Given the description of an element on the screen output the (x, y) to click on. 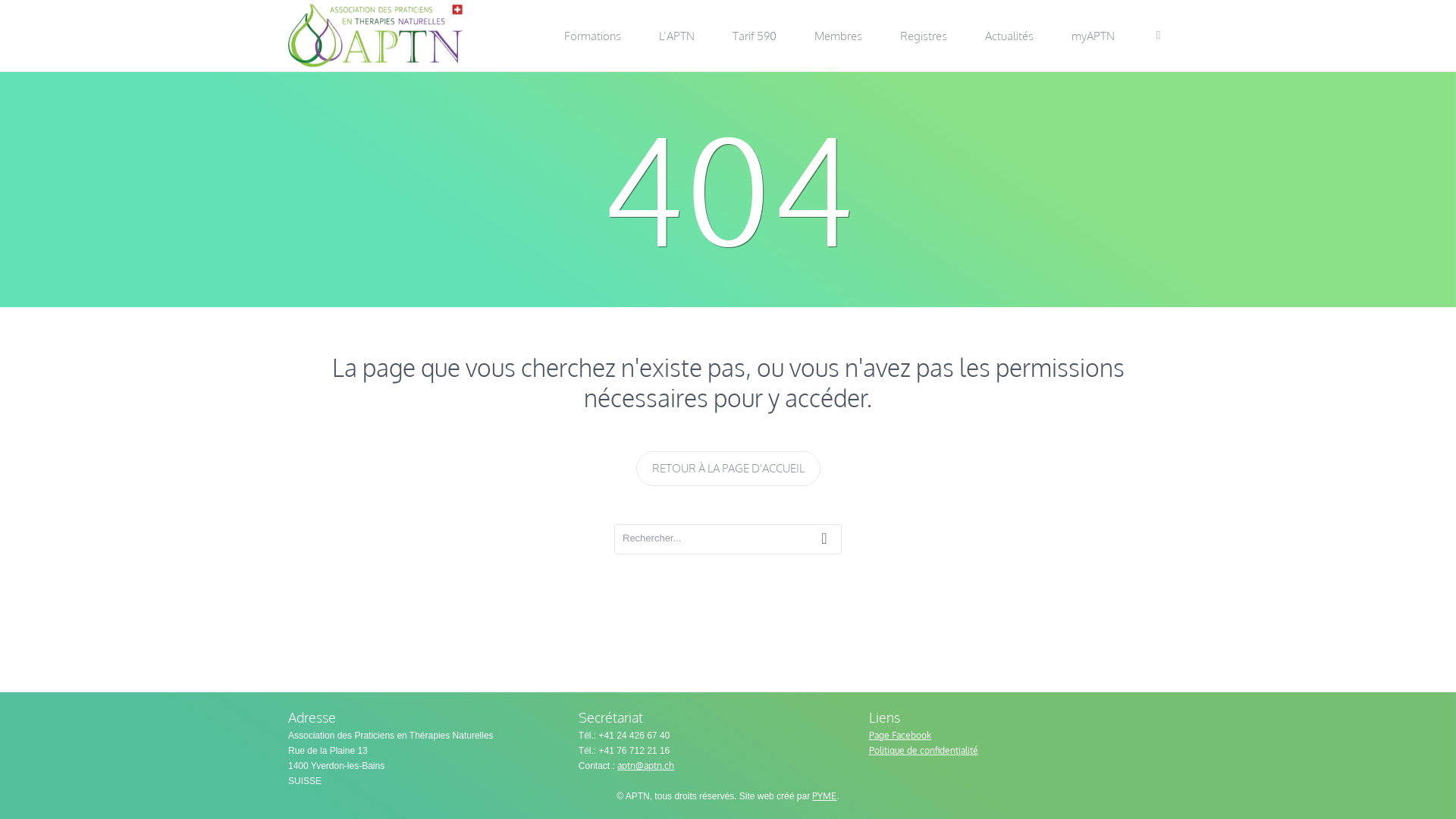
Tarif 590 Element type: text (754, 36)
Registres Element type: text (923, 36)
PYME Element type: text (824, 795)
Page Facebook Element type: text (900, 734)
myAPTN Element type: text (1092, 36)
Membres Element type: text (838, 36)
Formations Element type: text (592, 36)
aptn@aptn.ch Element type: text (645, 765)
